Given the description of an element on the screen output the (x, y) to click on. 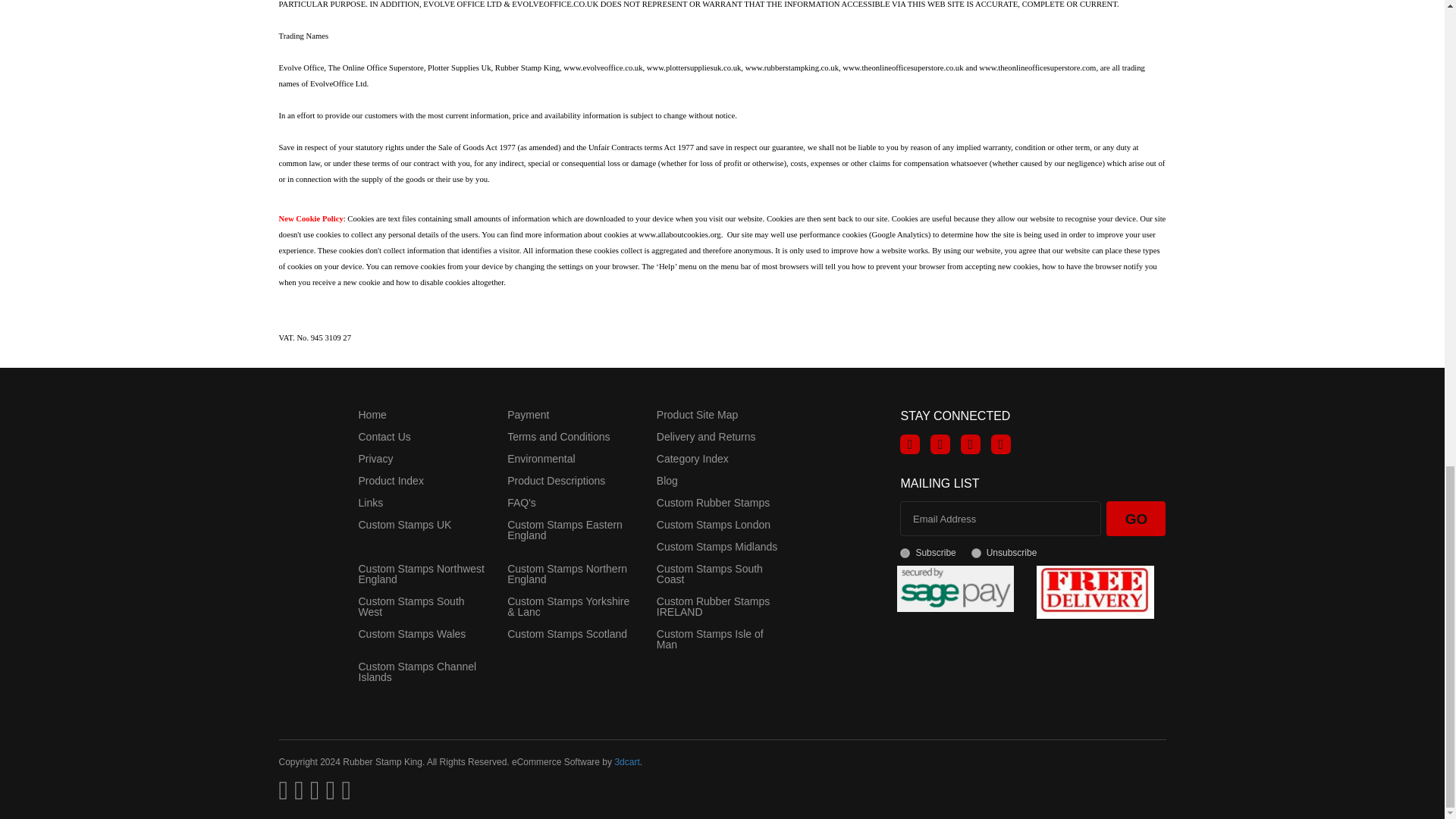
Subscribe to our Blog (1000, 444)
Like Us on Facebook (909, 444)
Subscribe to our Channel (969, 444)
Payment info (954, 587)
Follow Us on Twitter (940, 444)
1 (904, 552)
0 (976, 552)
Free Delivery on Everything! (1095, 591)
